Given the description of an element on the screen output the (x, y) to click on. 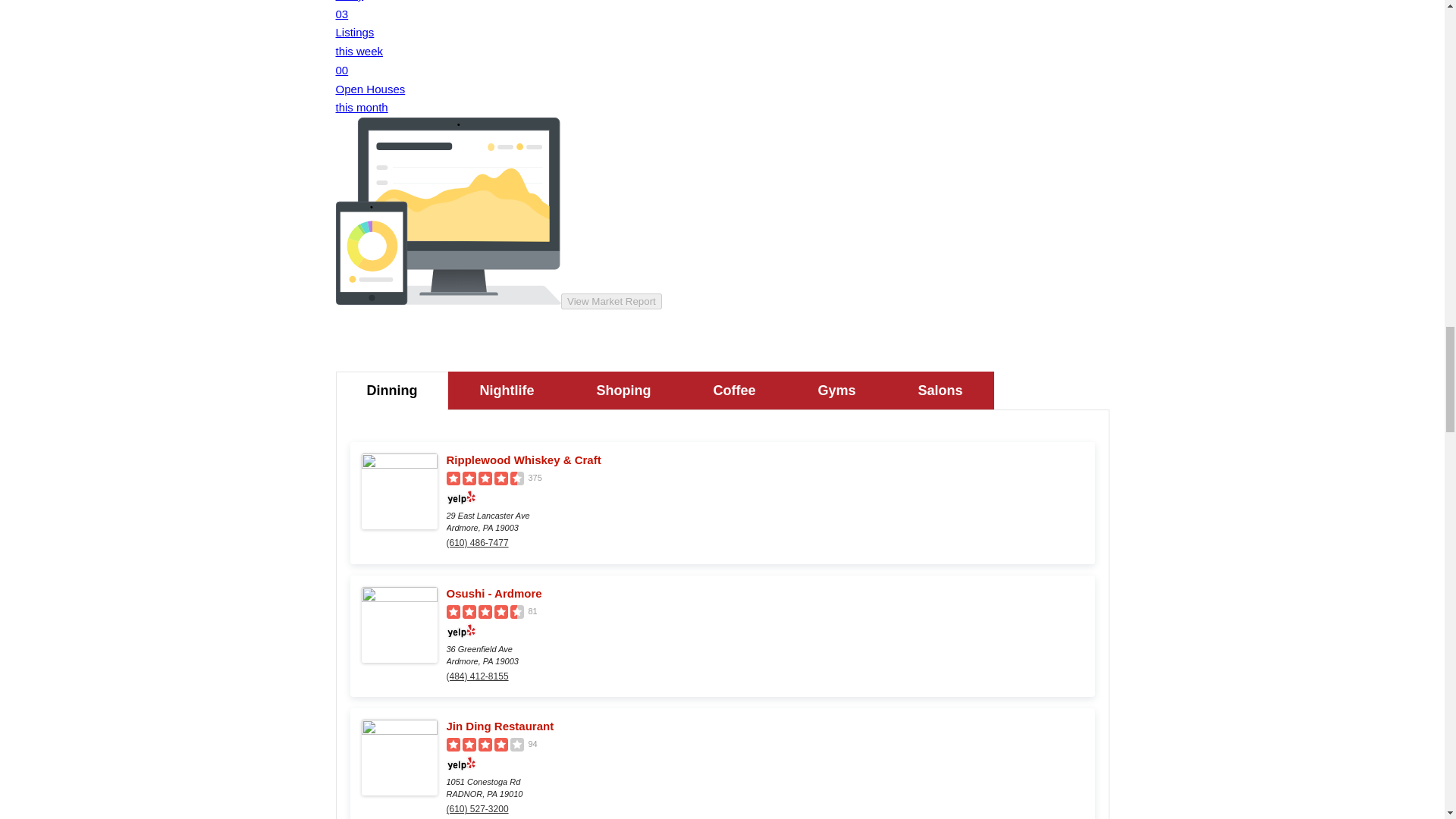
Osushi - Ardmore Yelp page (764, 593)
4.5 star rating (483, 612)
4.4 star rating (483, 478)
4.0 star rating (483, 744)
Jin Ding Restaurant Yelp page (764, 726)
